Given the description of an element on the screen output the (x, y) to click on. 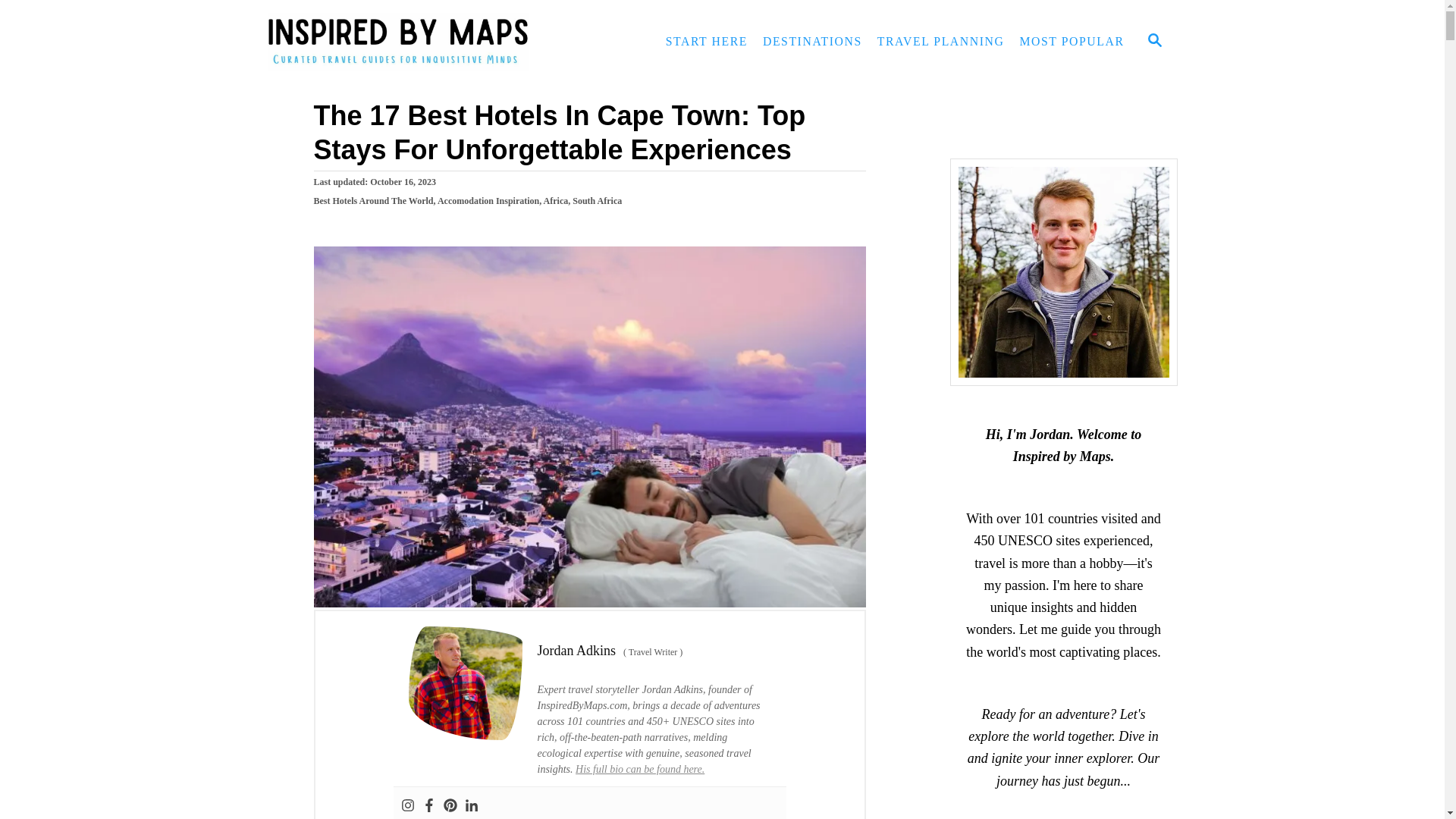
Inspired By Maps (403, 41)
SEARCH (1153, 40)
DESTINATIONS (812, 41)
START HERE (706, 41)
